Given the description of an element on the screen output the (x, y) to click on. 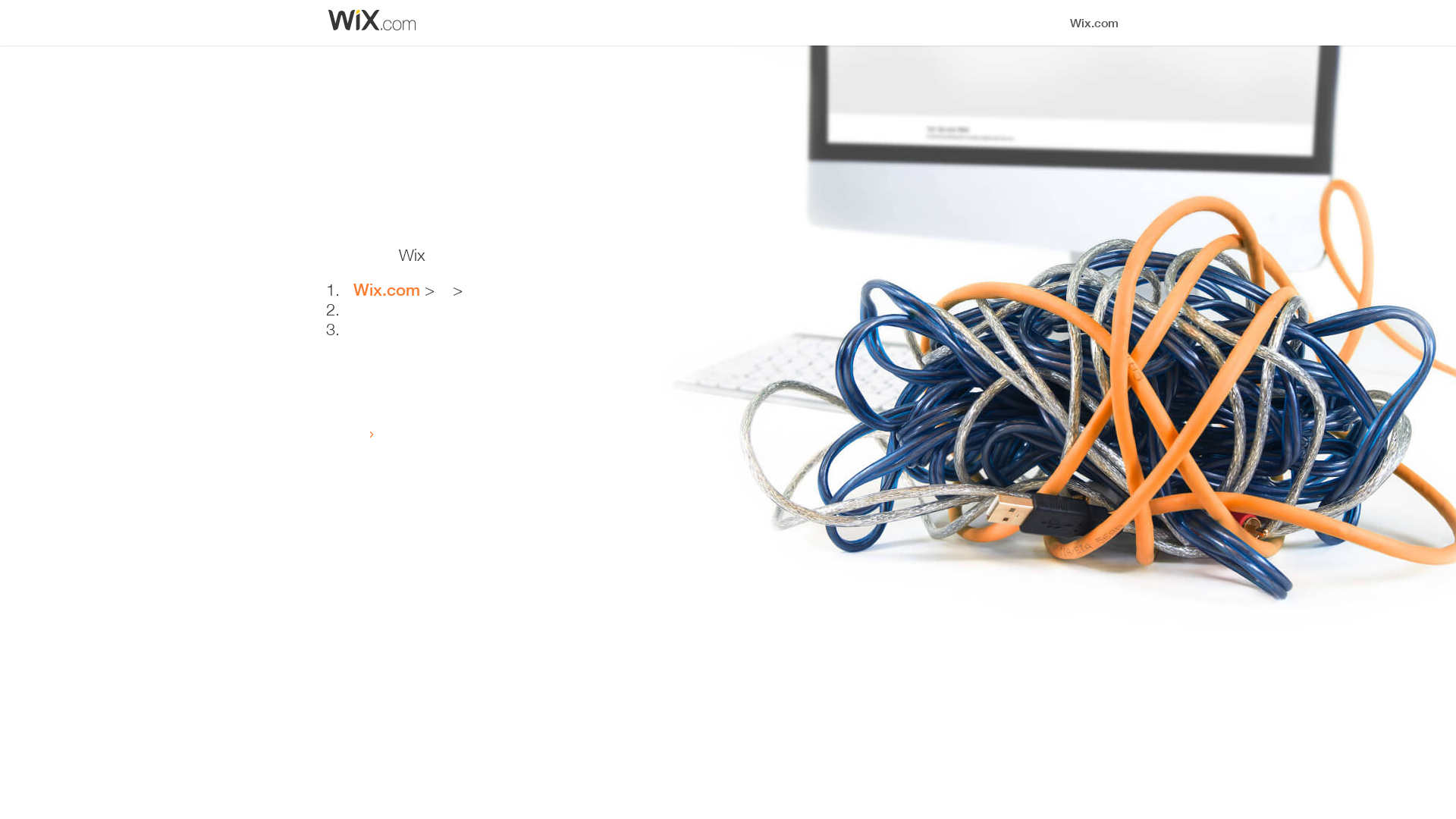
Wix.com Element type: text (386, 289)
